Given the description of an element on the screen output the (x, y) to click on. 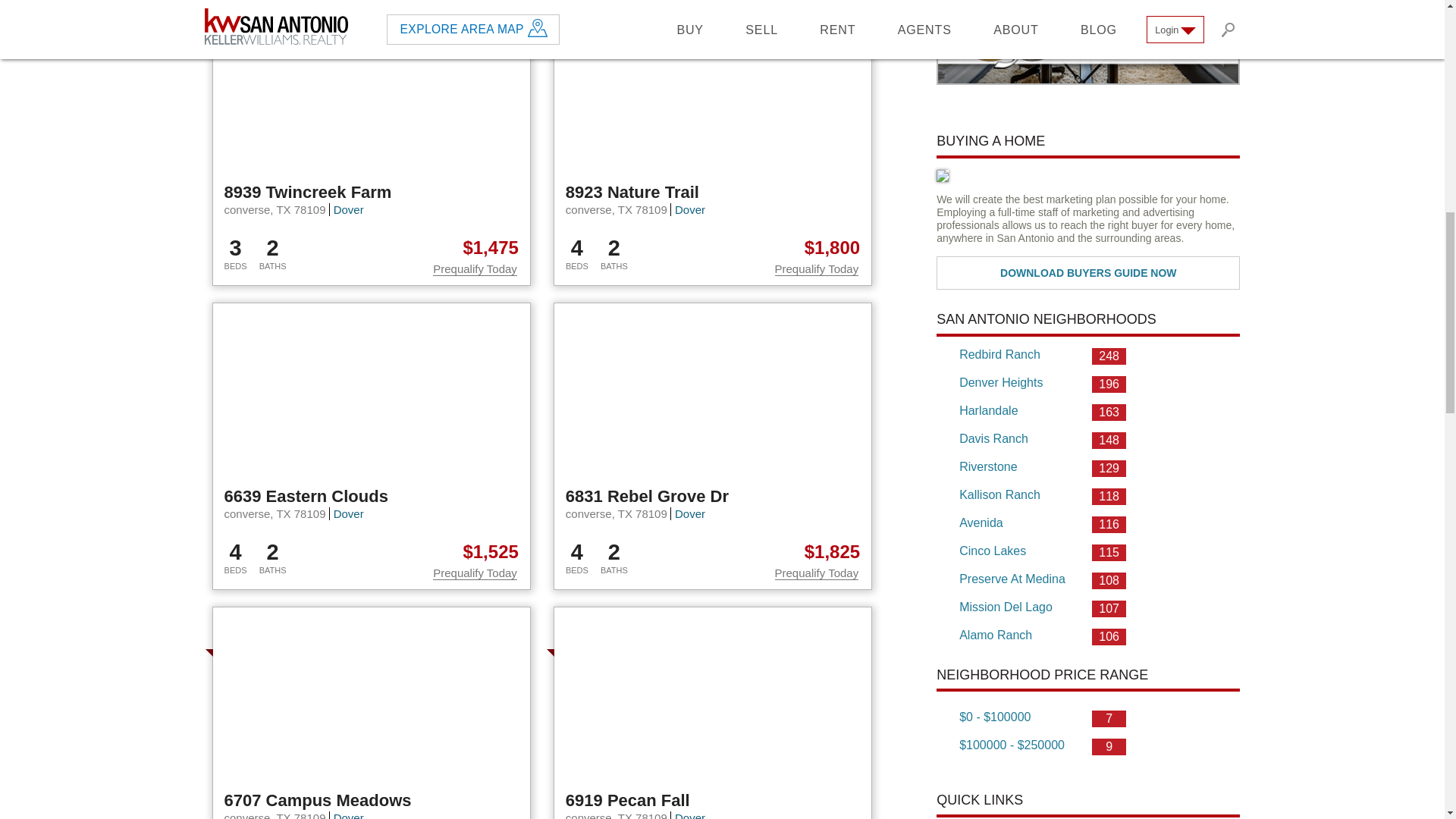
DOWNLOAD BUYERS GUIDE NOW (1088, 272)
